Given the description of an element on the screen output the (x, y) to click on. 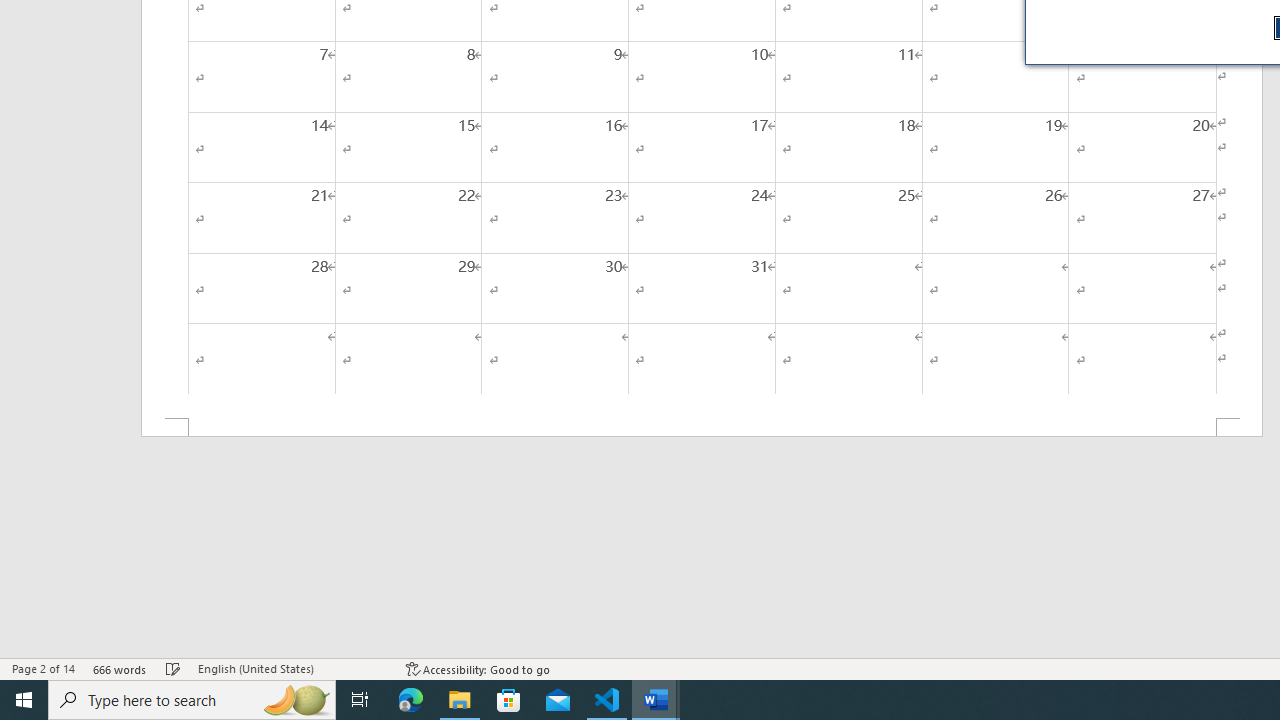
Task View (359, 699)
Type here to search (191, 699)
Word - 2 running windows (656, 699)
Spelling and Grammar Check Checking (173, 668)
Word Count 666 words (119, 668)
Start (24, 699)
Language English (United States) (292, 668)
Search highlights icon opens search home window (295, 699)
Page Number Page 2 of 14 (43, 668)
Visual Studio Code - 1 running window (607, 699)
Accessibility Checker Accessibility: Good to go (478, 668)
Microsoft Edge (411, 699)
Microsoft Store (509, 699)
Footer -Section 1- (701, 427)
